Given the description of an element on the screen output the (x, y) to click on. 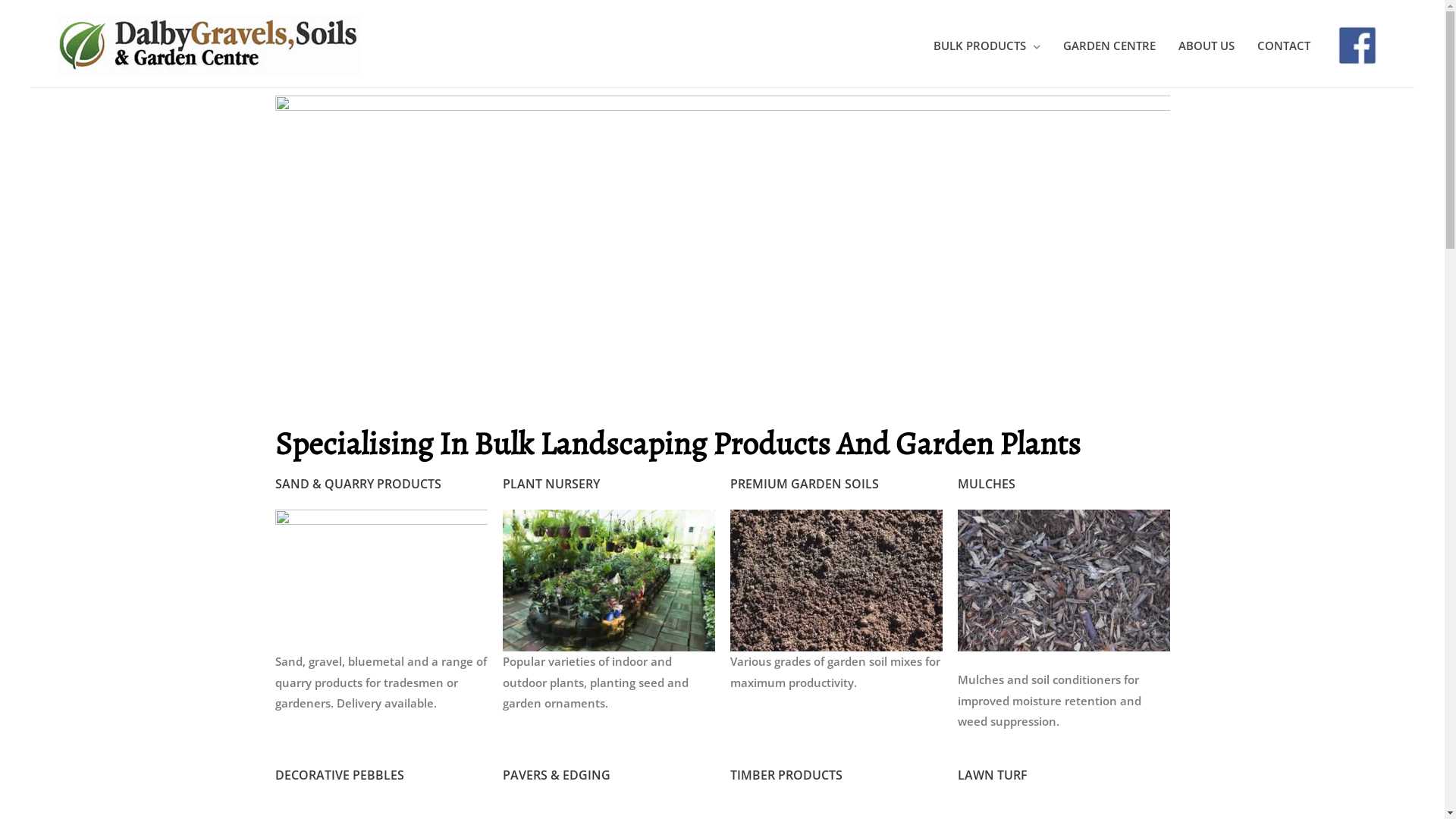
BULK PRODUCTS Element type: text (986, 45)
PLANT NURSERY Element type: text (550, 483)
GARDEN CENTRE Element type: text (1108, 45)
PREMIUM GARDEN SOILS Element type: text (803, 483)
CONTACT Element type: text (1283, 45)
ABOUT US Element type: text (1205, 45)
SAND & QUARRY PRODUCTS Element type: text (357, 483)
